Given the description of an element on the screen output the (x, y) to click on. 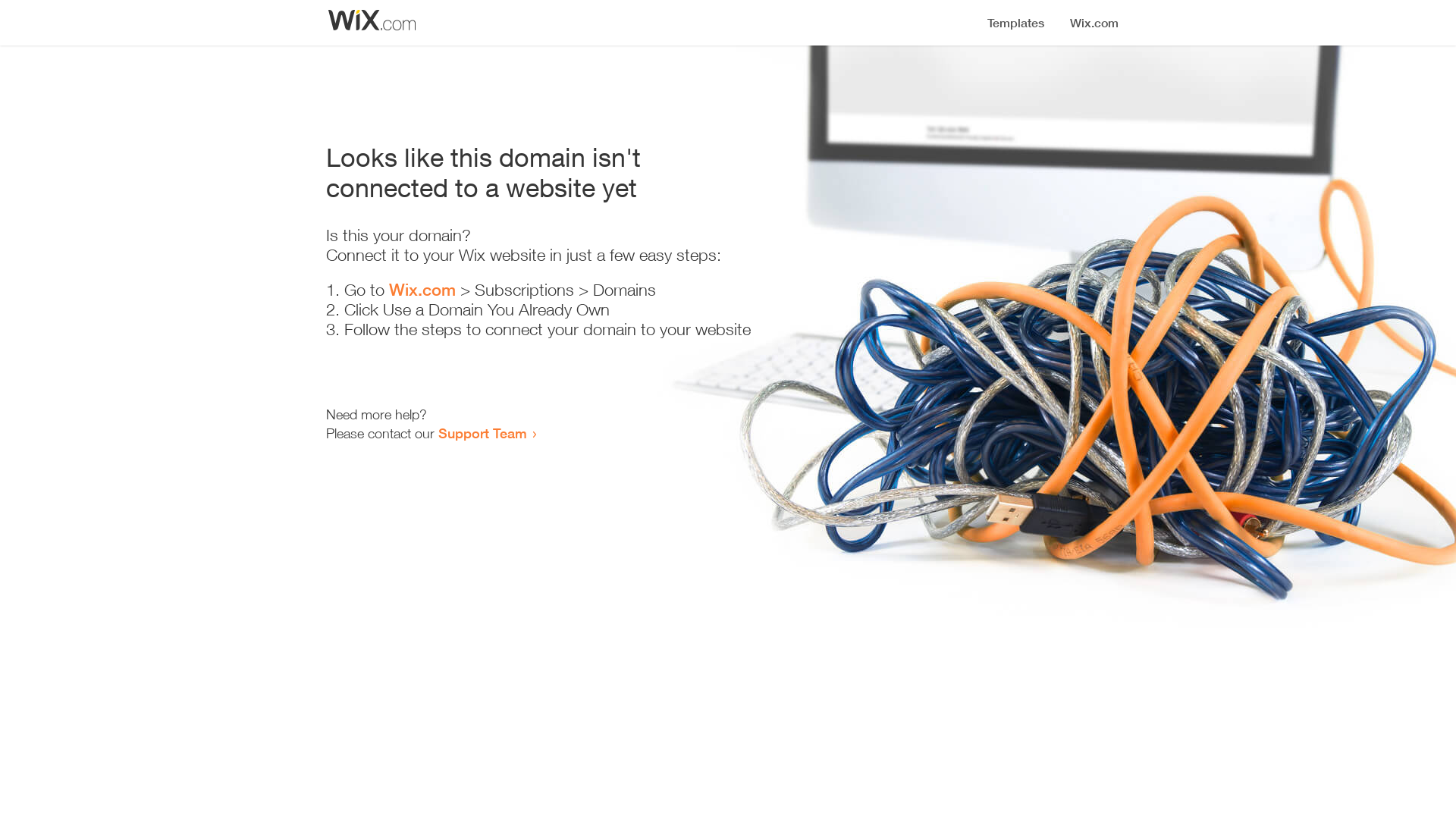
Wix.com Element type: text (422, 289)
Support Team Element type: text (482, 432)
